Given the description of an element on the screen output the (x, y) to click on. 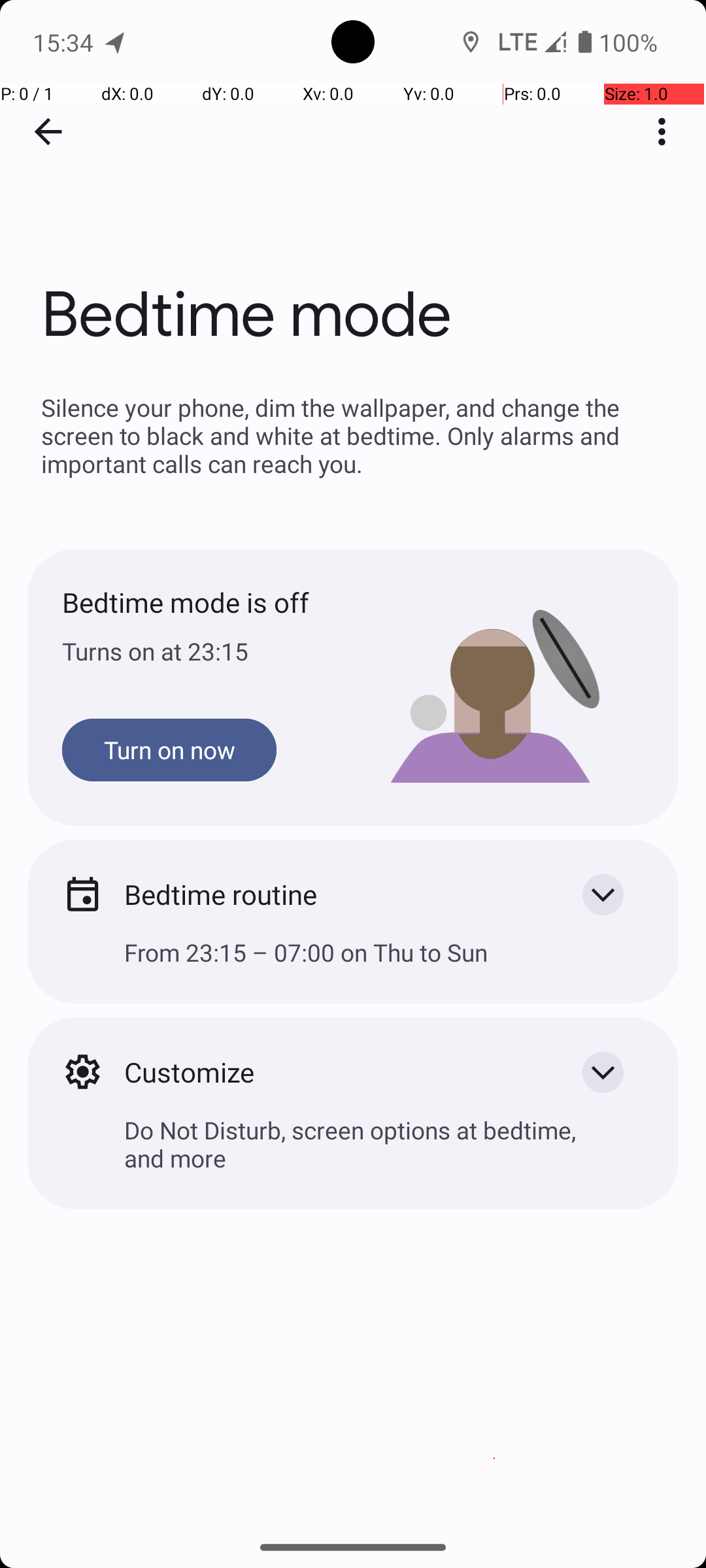
Bedtime mode Element type: android.widget.FrameLayout (353, 195)
Silence your phone, dim the wallpaper, and change the screen to black and white at bedtime. Only alarms and important calls can reach you. Element type: android.widget.TextView (352, 435)
Bedtime mode is off Element type: android.widget.TextView (207, 601)
Turns on at 23:15 Element type: android.widget.TextView (207, 650)
Turn on now Element type: android.widget.Button (169, 749)
Bedtime routine Element type: android.widget.TextView (332, 893)
Expand the card Bedtime routine Element type: android.widget.ImageView (602, 894)
From 23:15 – 07:00 on Thu to Sun Element type: android.widget.TextView (352, 962)
Customize Element type: android.widget.TextView (332, 1071)
Expand the card Customize Element type: android.widget.ImageView (602, 1071)
Do Not Disturb, screen options at bedtime, and more Element type: android.widget.TextView (352, 1154)
